Given the description of an element on the screen output the (x, y) to click on. 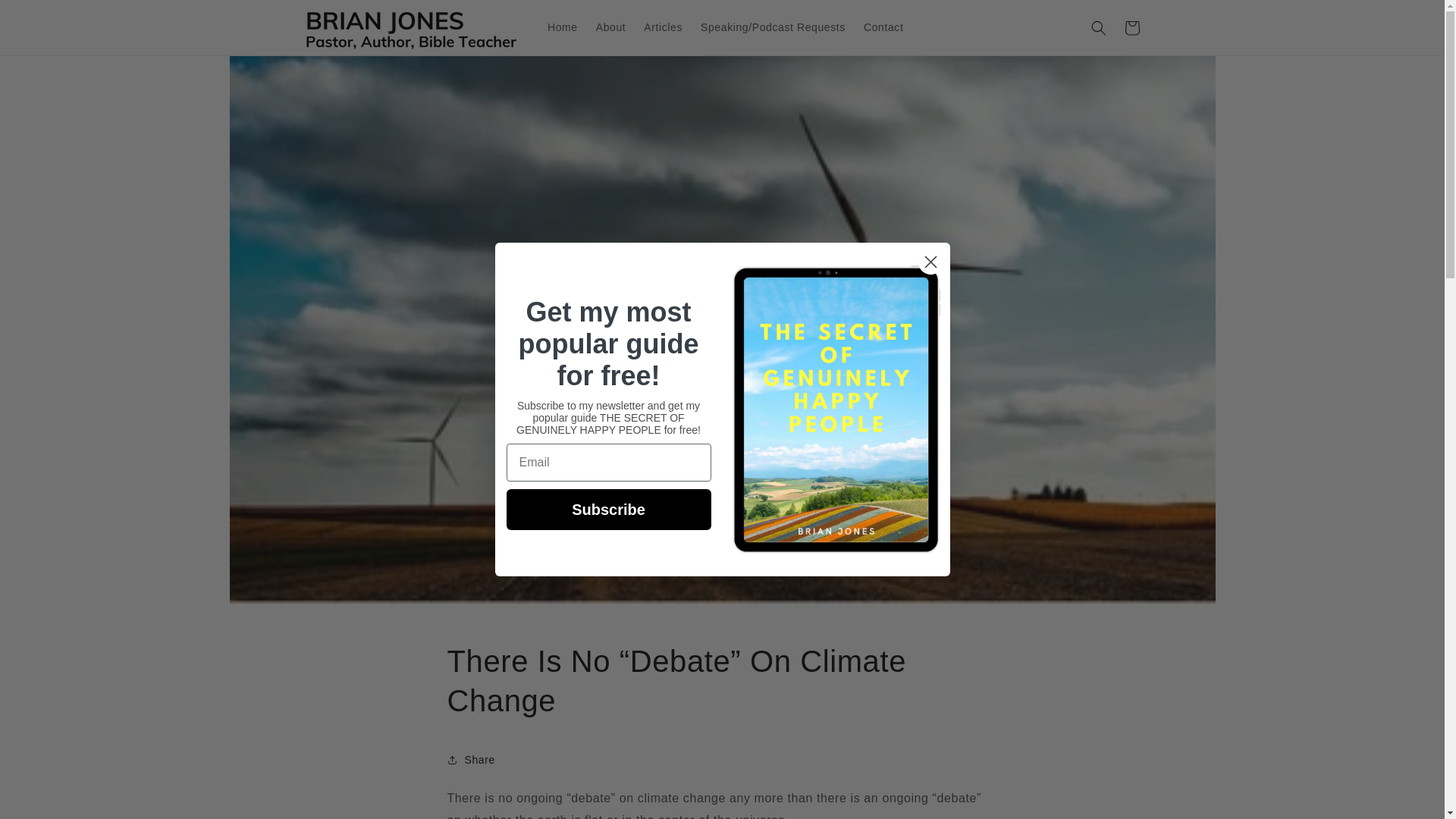
Cart (1131, 27)
Home (562, 27)
Skip to content (45, 17)
Close dialog 2 (930, 261)
Contact (883, 27)
Articles (662, 27)
About (610, 27)
